Given the description of an element on the screen output the (x, y) to click on. 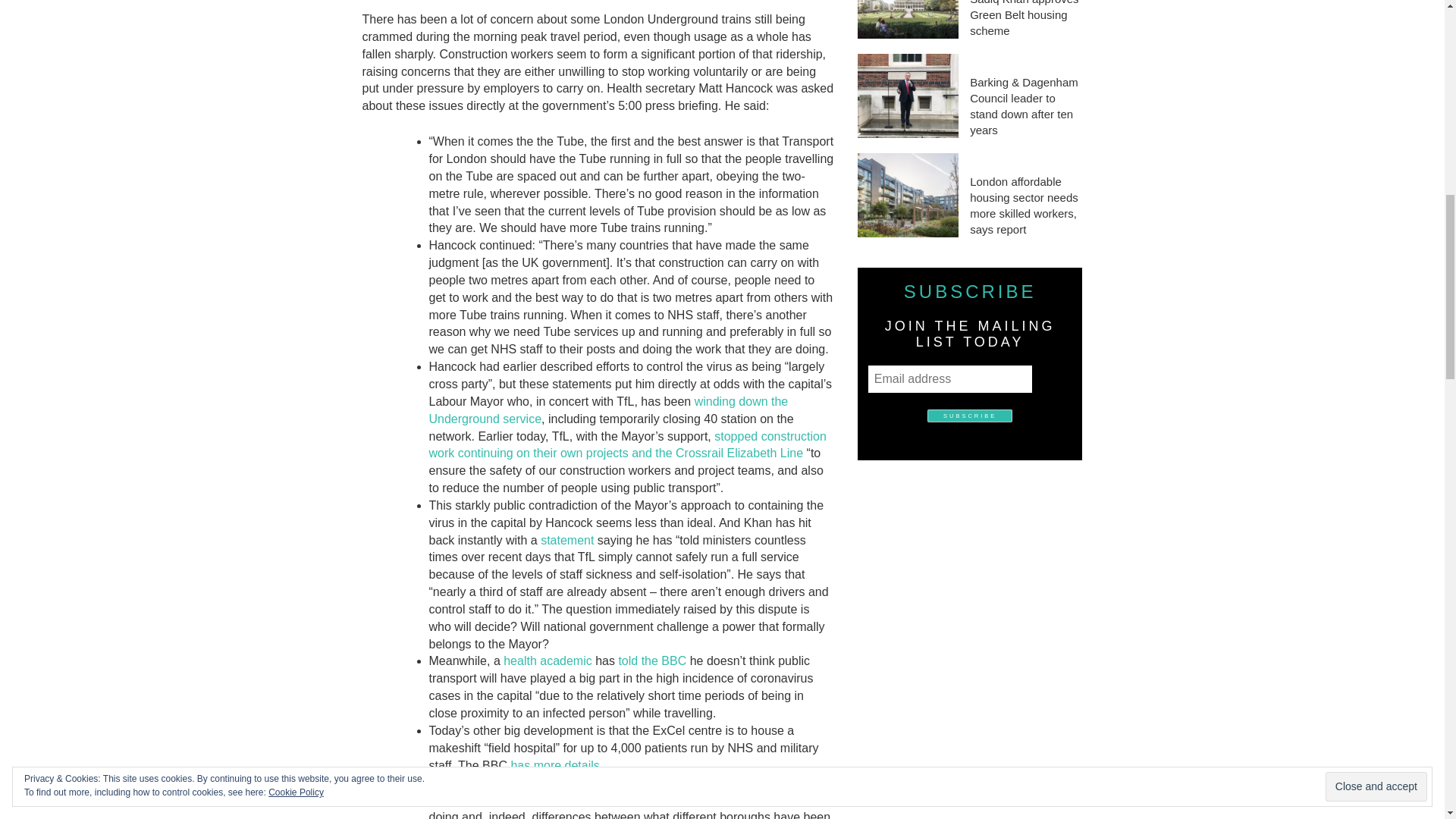
Sadiq Khan approves Green Belt housing scheme (1025, 19)
Sadiq Khan approves Green Belt housing scheme (907, 19)
winding down the Underground service (609, 409)
Subscribe (969, 416)
